Given the description of an element on the screen output the (x, y) to click on. 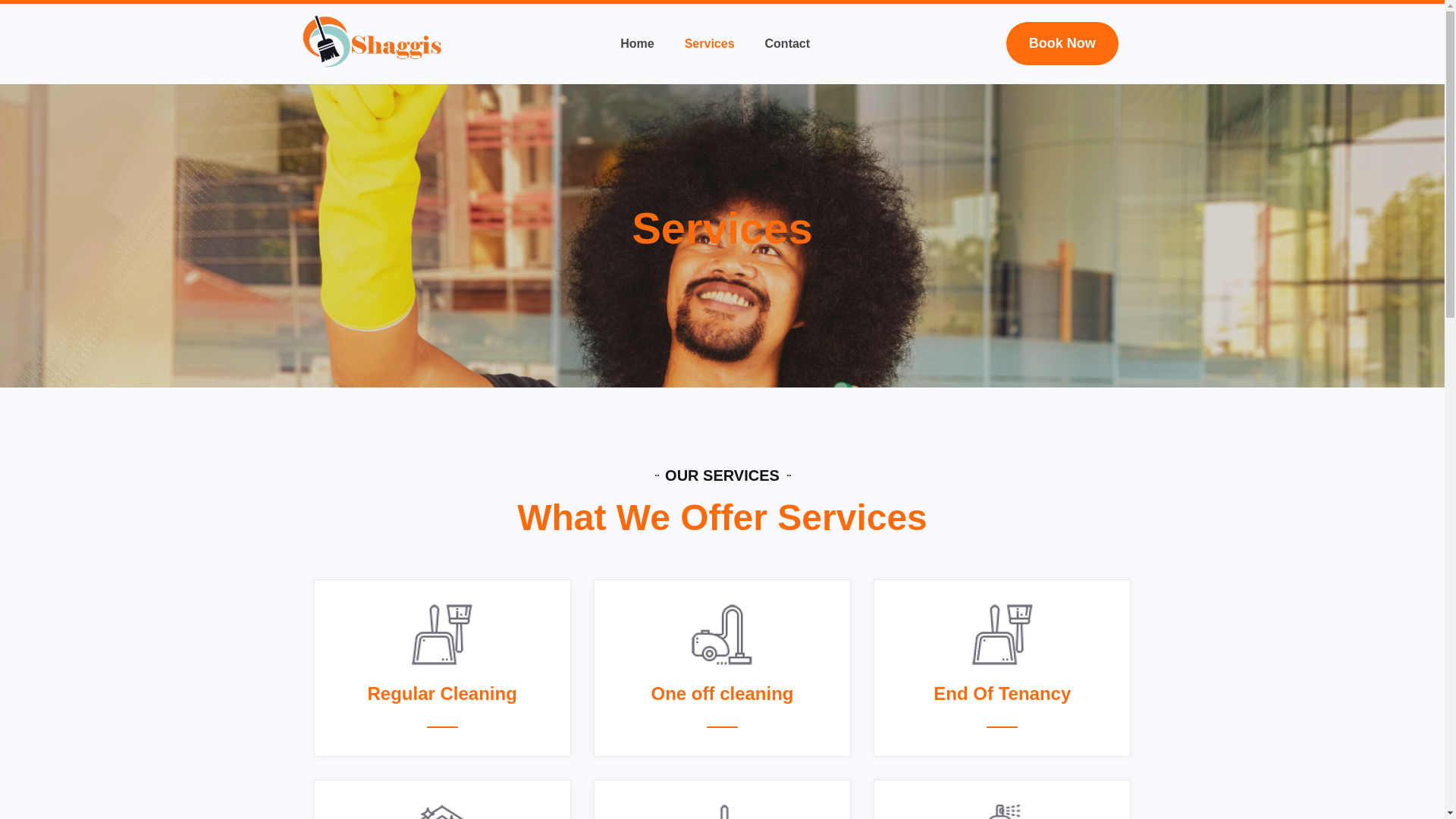
Contact (787, 43)
dustpan-icon (1002, 634)
dustpan-icon (441, 634)
Book Now (1062, 43)
brush-icon (721, 811)
hoover-icon (721, 634)
Home (636, 43)
house-icon (441, 811)
Services (709, 43)
spray-icon (1002, 811)
